Given the description of an element on the screen output the (x, y) to click on. 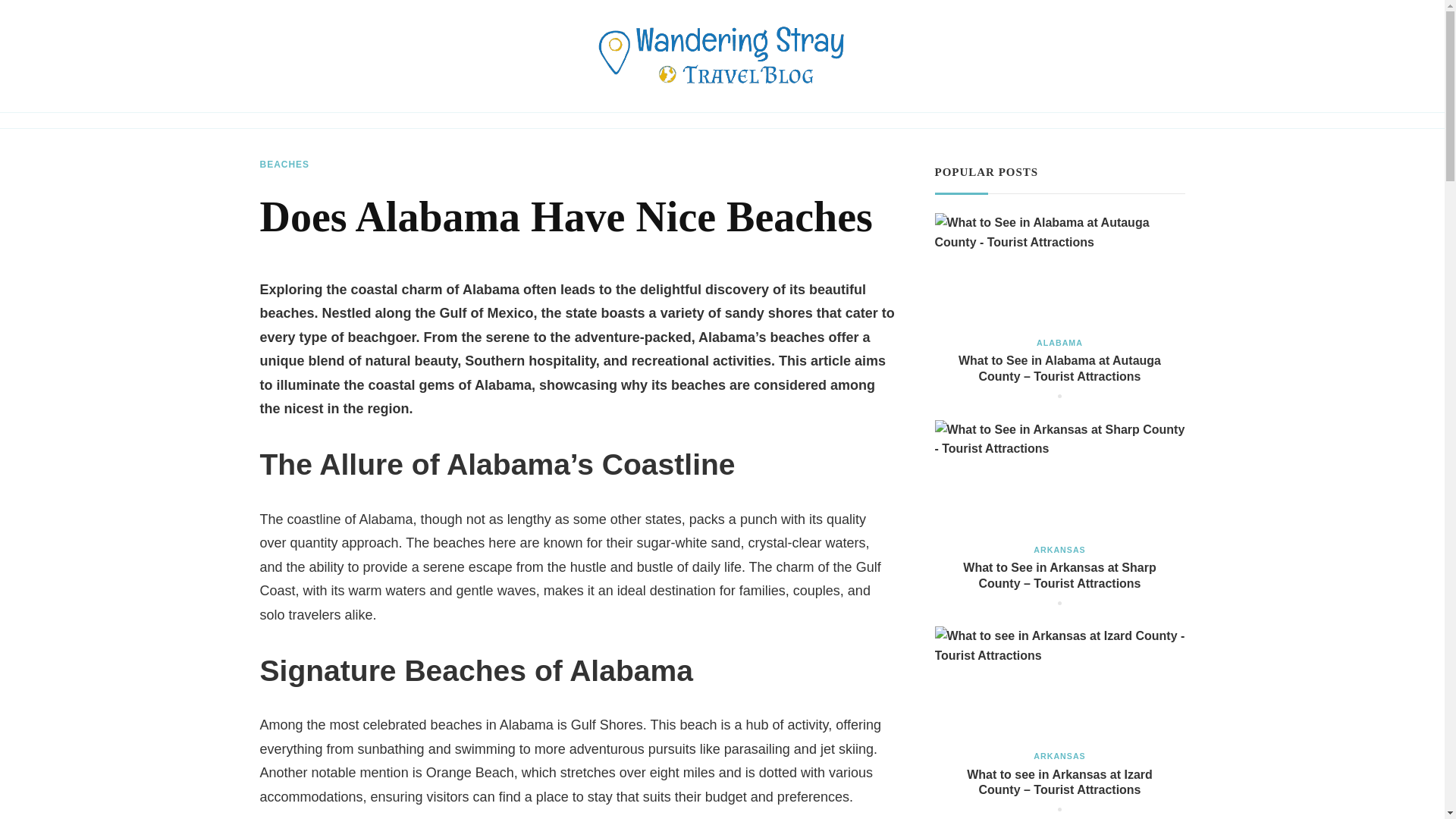
ARKANSAS (1058, 549)
ARKANSAS (1058, 756)
ALABAMA (1059, 342)
BEACHES (283, 164)
